Given the description of an element on the screen output the (x, y) to click on. 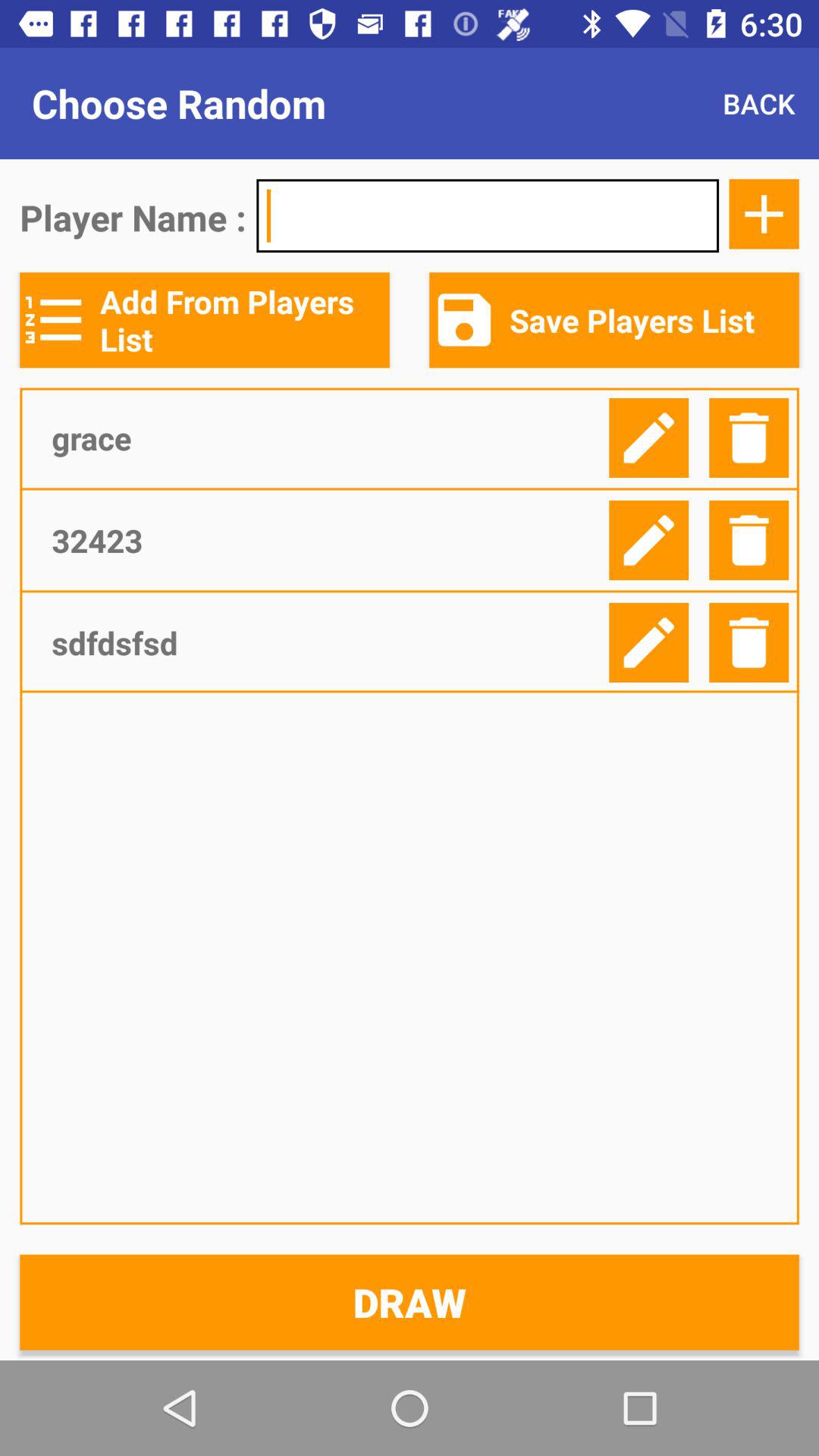
delete contact (748, 437)
